Given the description of an element on the screen output the (x, y) to click on. 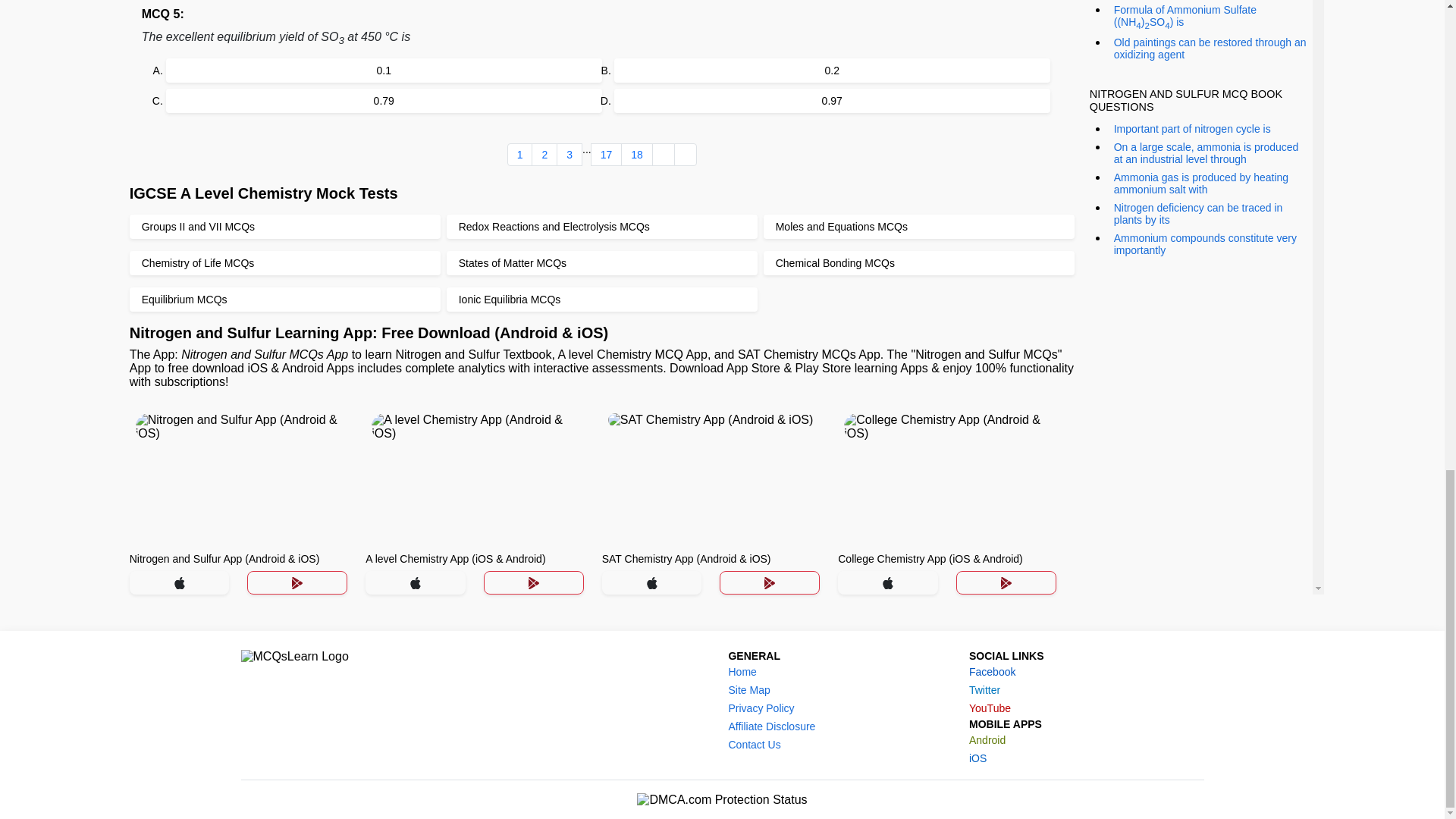
DMCA.com Protection Status (721, 799)
